Given the description of an element on the screen output the (x, y) to click on. 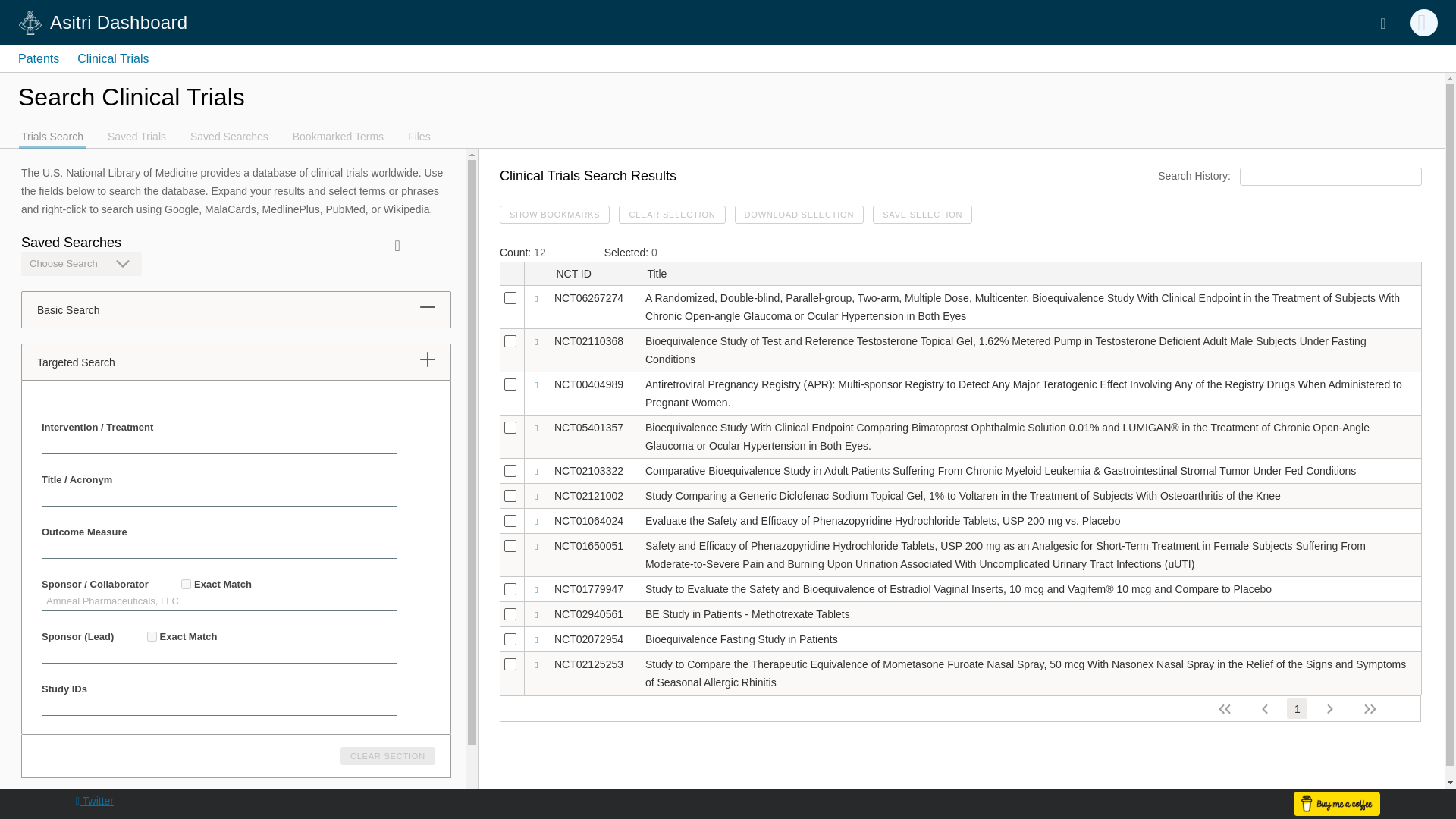
CLEAR SECTION (387, 755)
on (185, 583)
NCT02121002 (588, 495)
CLEAR SELECTION (671, 214)
Trials Search (51, 134)
Files (418, 134)
Patents (38, 58)
Saved Trials (136, 134)
Amneal Pharmaceuticals, LLC (219, 601)
NCT02103322 (588, 470)
